Given the description of an element on the screen output the (x, y) to click on. 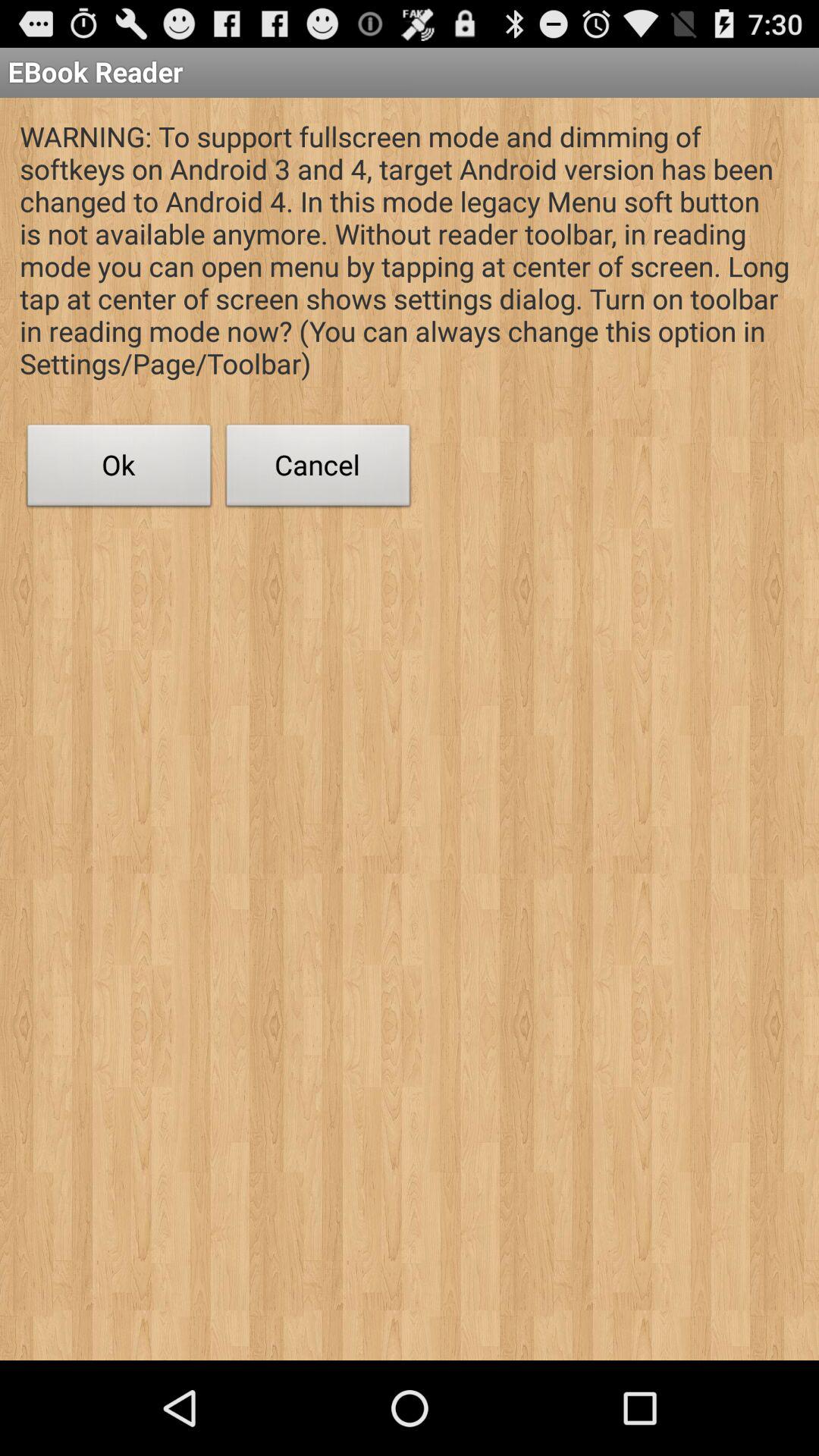
press ok (118, 469)
